Given the description of an element on the screen output the (x, y) to click on. 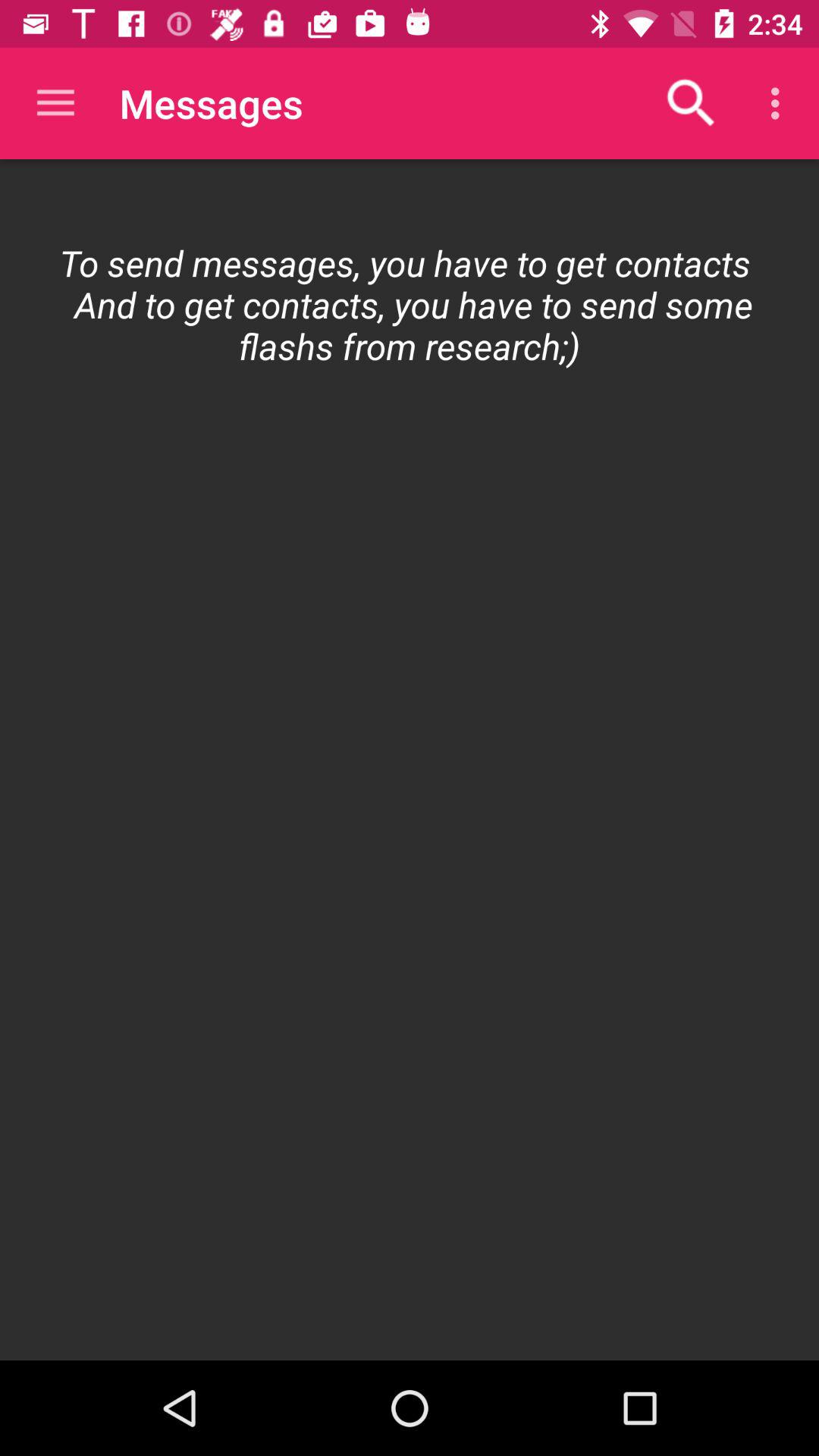
turn off the item next to the messages (691, 103)
